Given the description of an element on the screen output the (x, y) to click on. 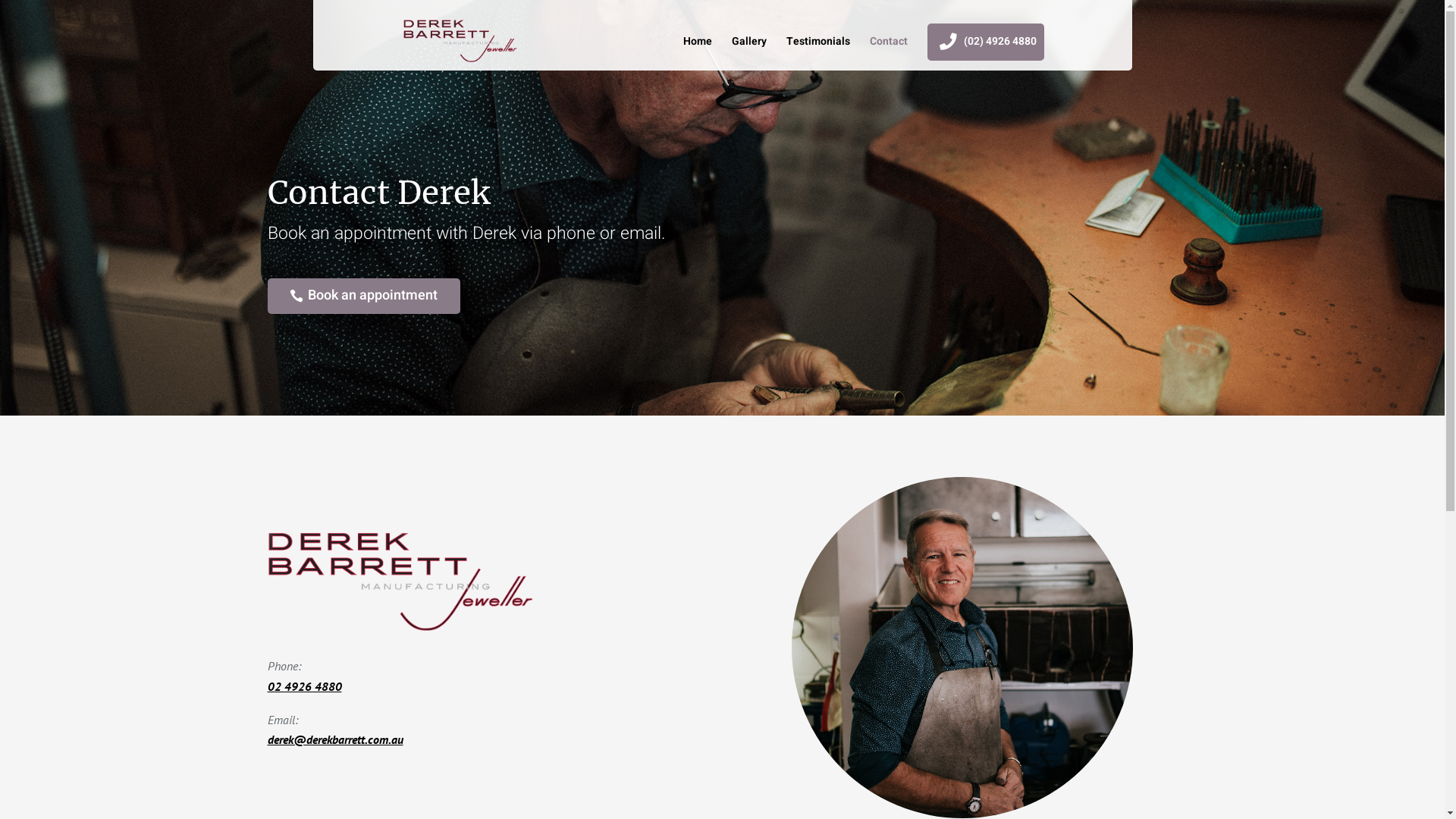
Gallery Element type: text (748, 50)
Derek Barrett Element type: hover (961, 647)
Testimonials Element type: text (818, 50)
(02) 4926 4880 Element type: text (985, 41)
Contact Element type: text (888, 50)
derek@derekbarrett.com.au Element type: text (334, 738)
02 4926 4880 Element type: text (303, 685)
Home Element type: text (697, 50)
Book an appointment Element type: text (362, 295)
